Given the description of an element on the screen output the (x, y) to click on. 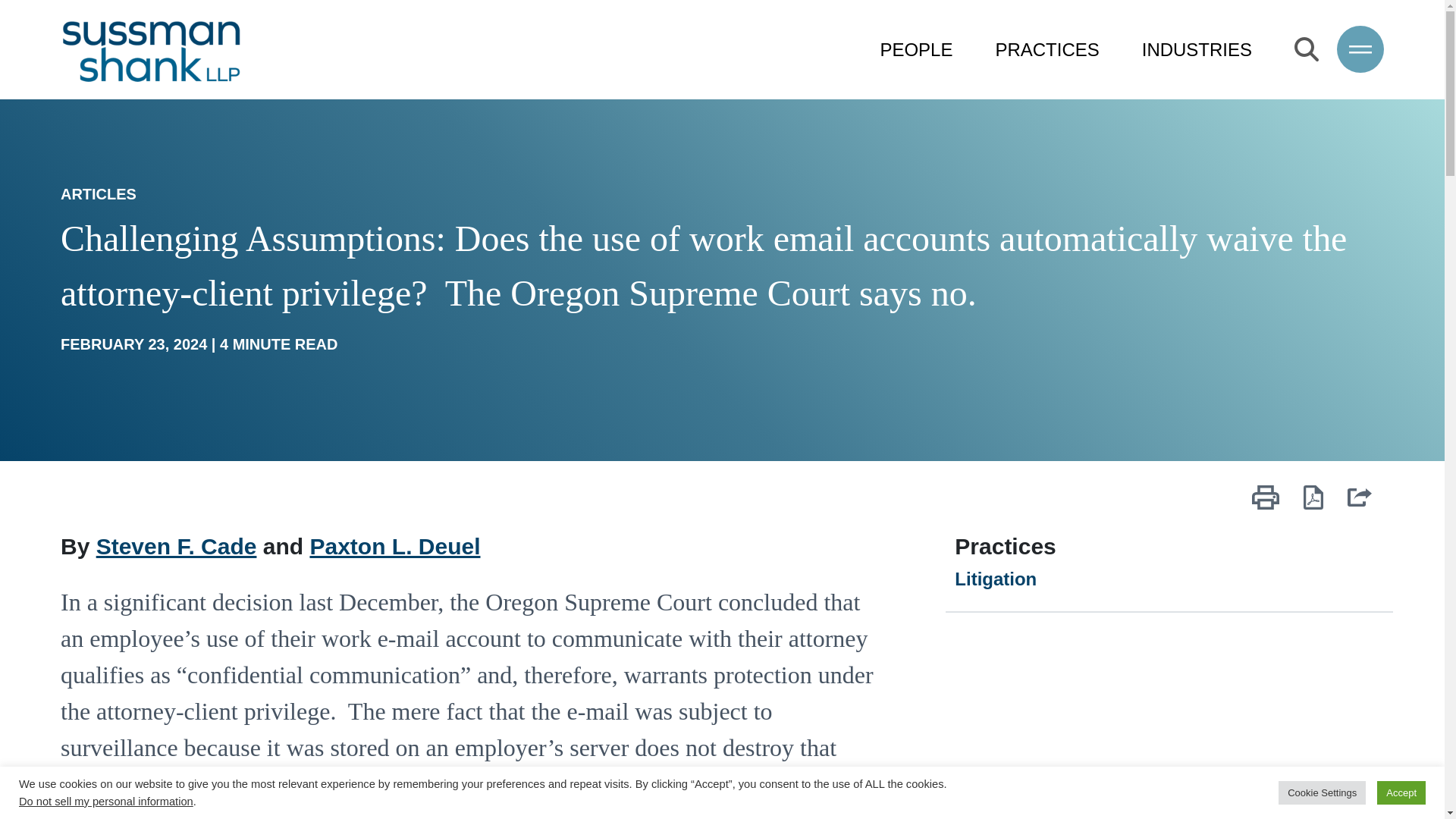
Litigation (995, 578)
PRACTICES (1046, 49)
Accept (1401, 792)
Do not sell my personal information (105, 801)
PEOPLE (915, 49)
Print this page (1265, 506)
Print to PDF (1313, 506)
Share this page (1359, 506)
INDUSTRIES (1196, 49)
Paxton L. Deuel (394, 545)
Cookie Settings (1321, 792)
Steven F. Cade (176, 545)
